Given the description of an element on the screen output the (x, y) to click on. 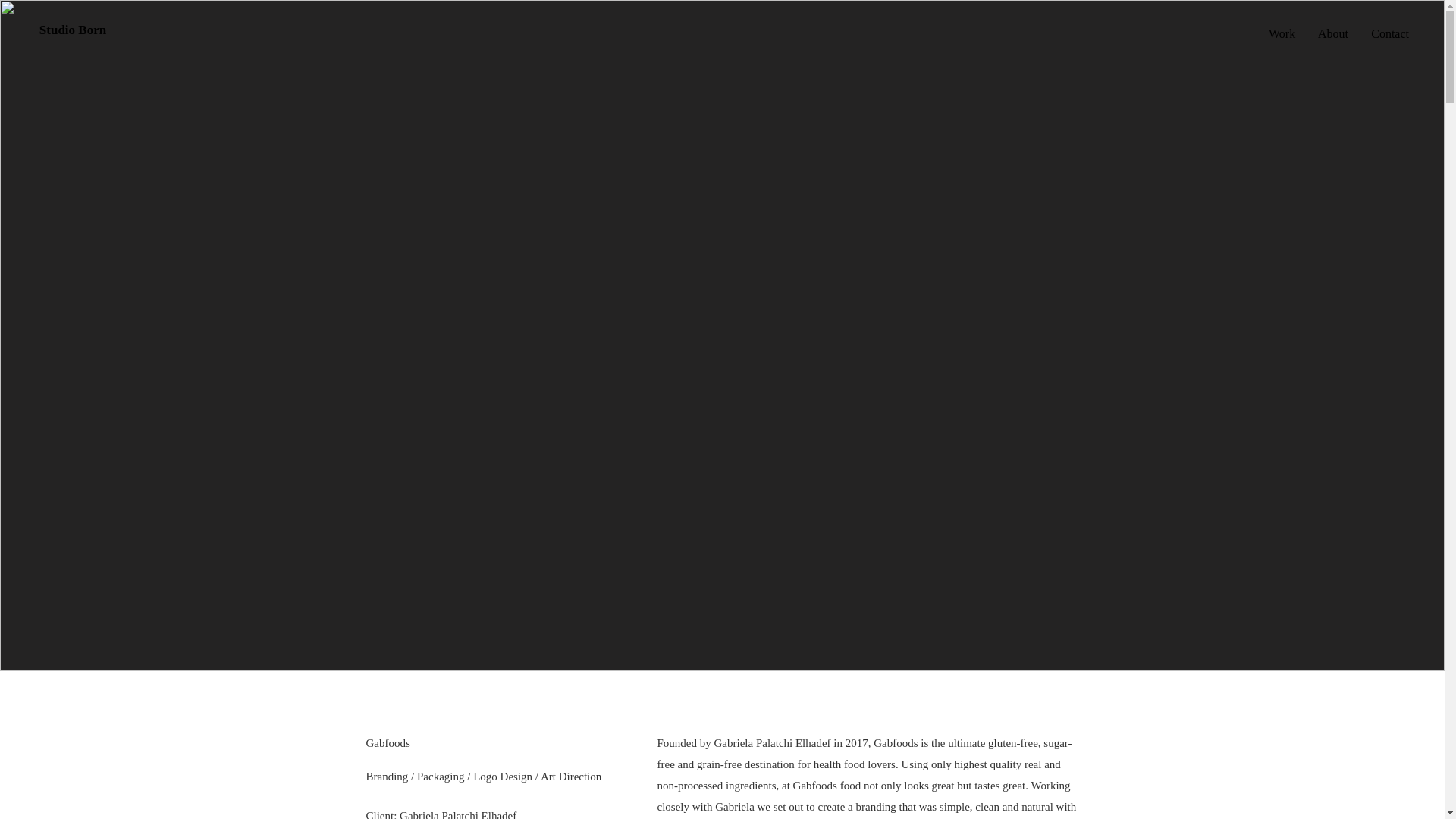
About (1332, 34)
Work (1281, 34)
Contact (1390, 34)
Gabriela Palatchi Elhadef (457, 814)
Studio Born (72, 30)
